Given the description of an element on the screen output the (x, y) to click on. 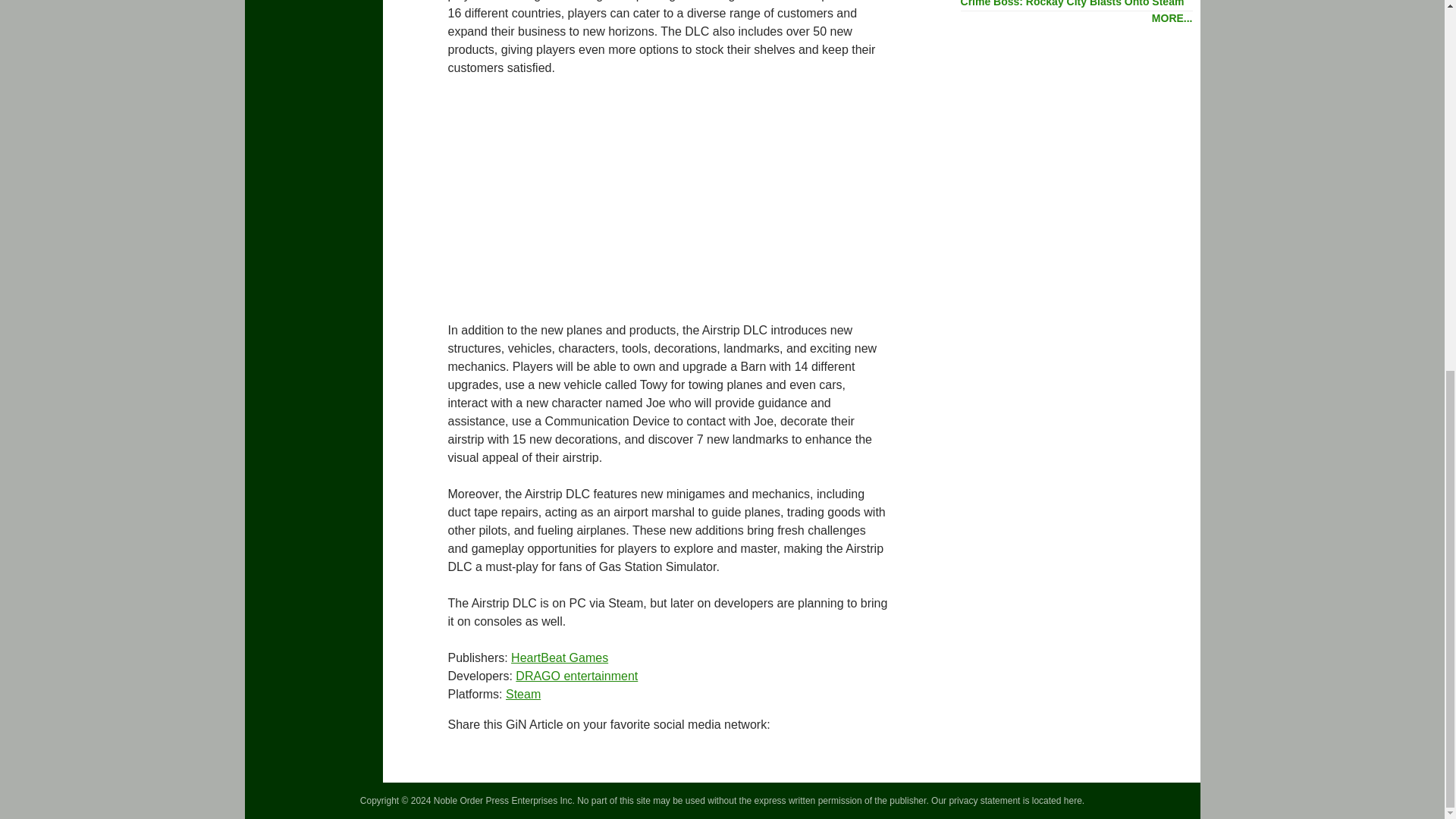
HeartBeat Games (559, 657)
DRAGO entertainment (576, 675)
Steam (522, 694)
